Given the description of an element on the screen output the (x, y) to click on. 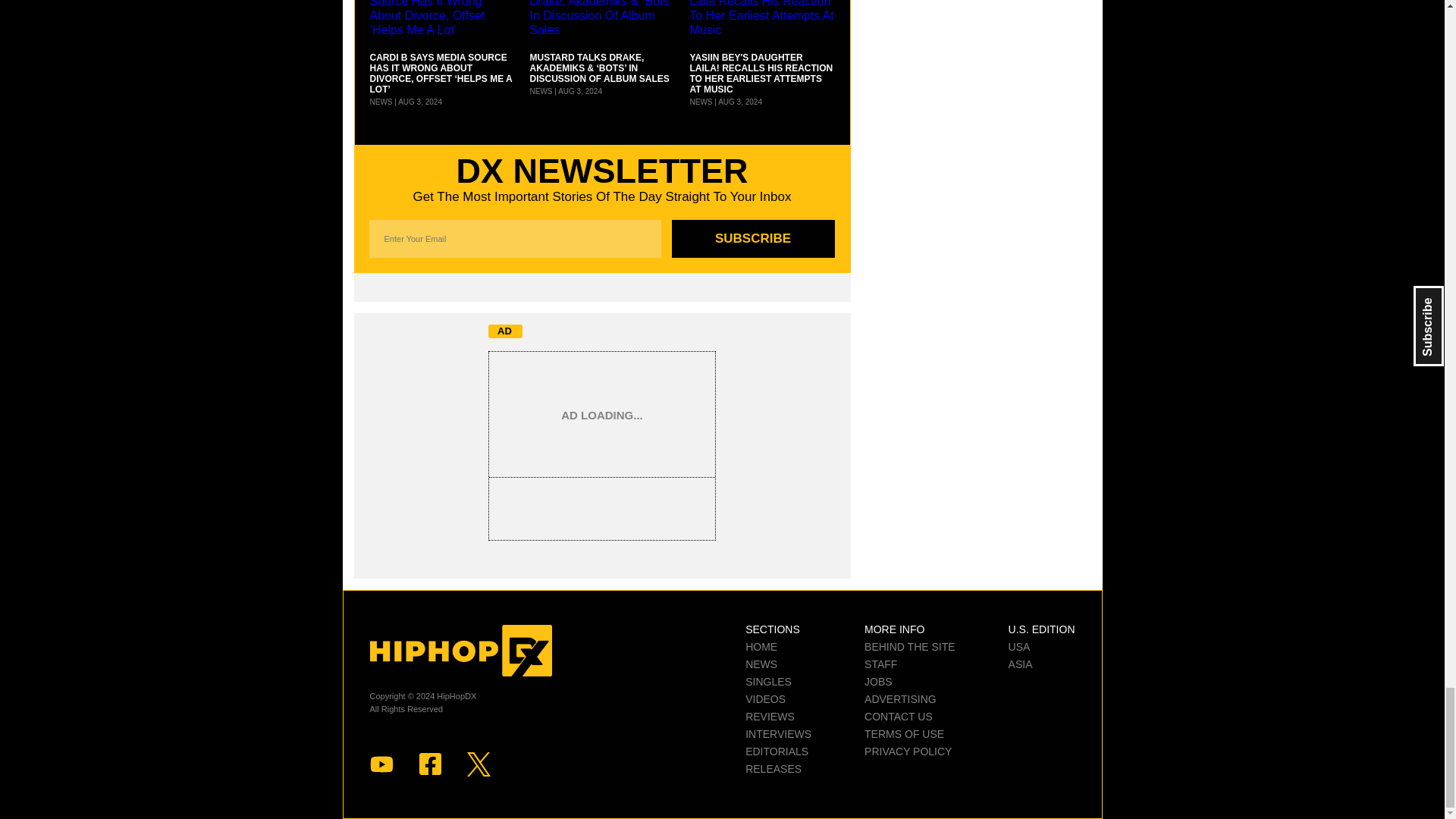
HipHopDX (460, 650)
